Given the description of an element on the screen output the (x, y) to click on. 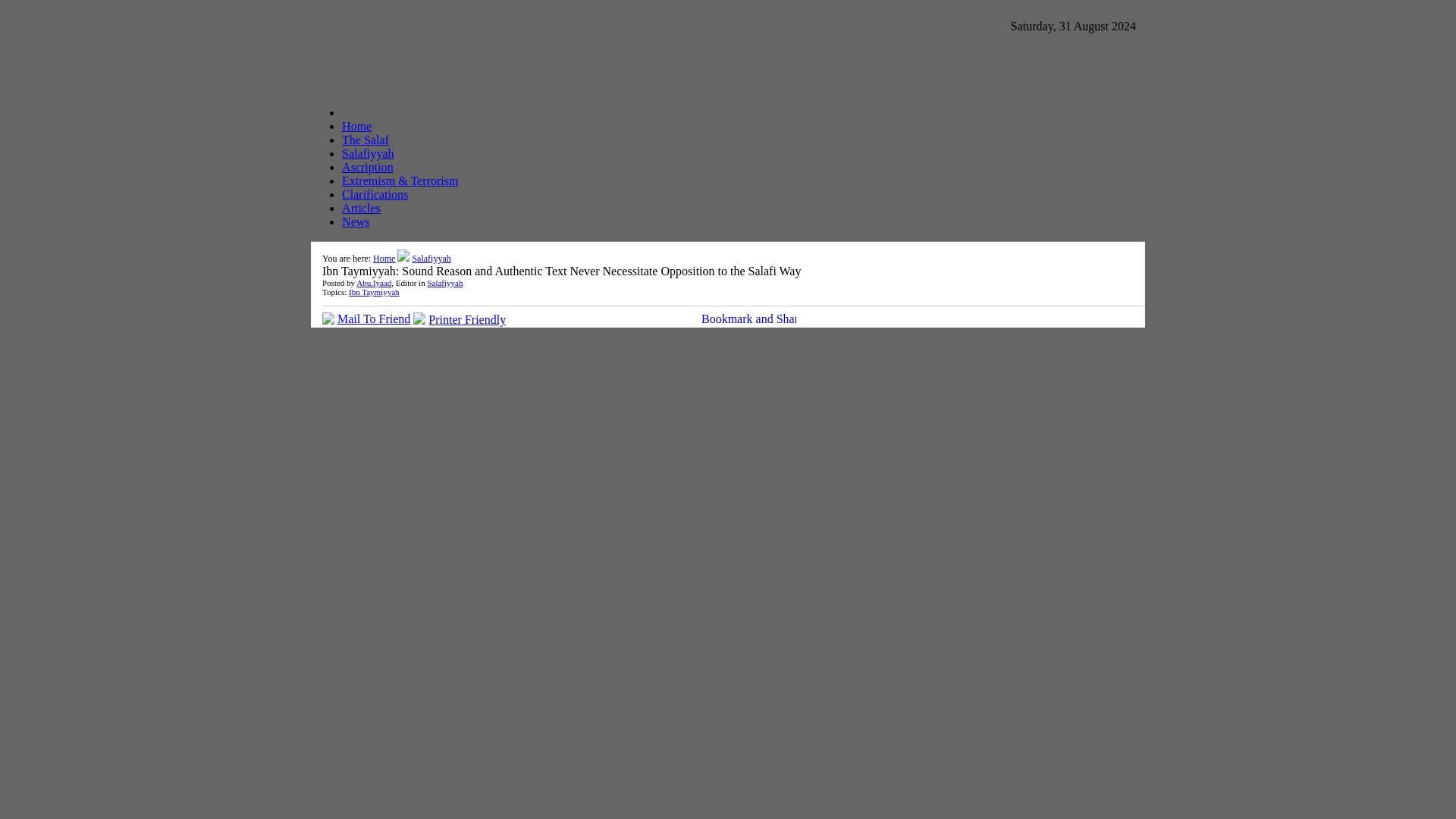
Home (383, 258)
The Salaf (365, 139)
Ibn Taymiyyah (373, 291)
Salafiyyah (430, 258)
Mail To Friend (373, 318)
Salafiyyah (444, 282)
News (355, 221)
Ascription (367, 166)
Home (356, 125)
Clarifications (374, 194)
